Given the description of an element on the screen output the (x, y) to click on. 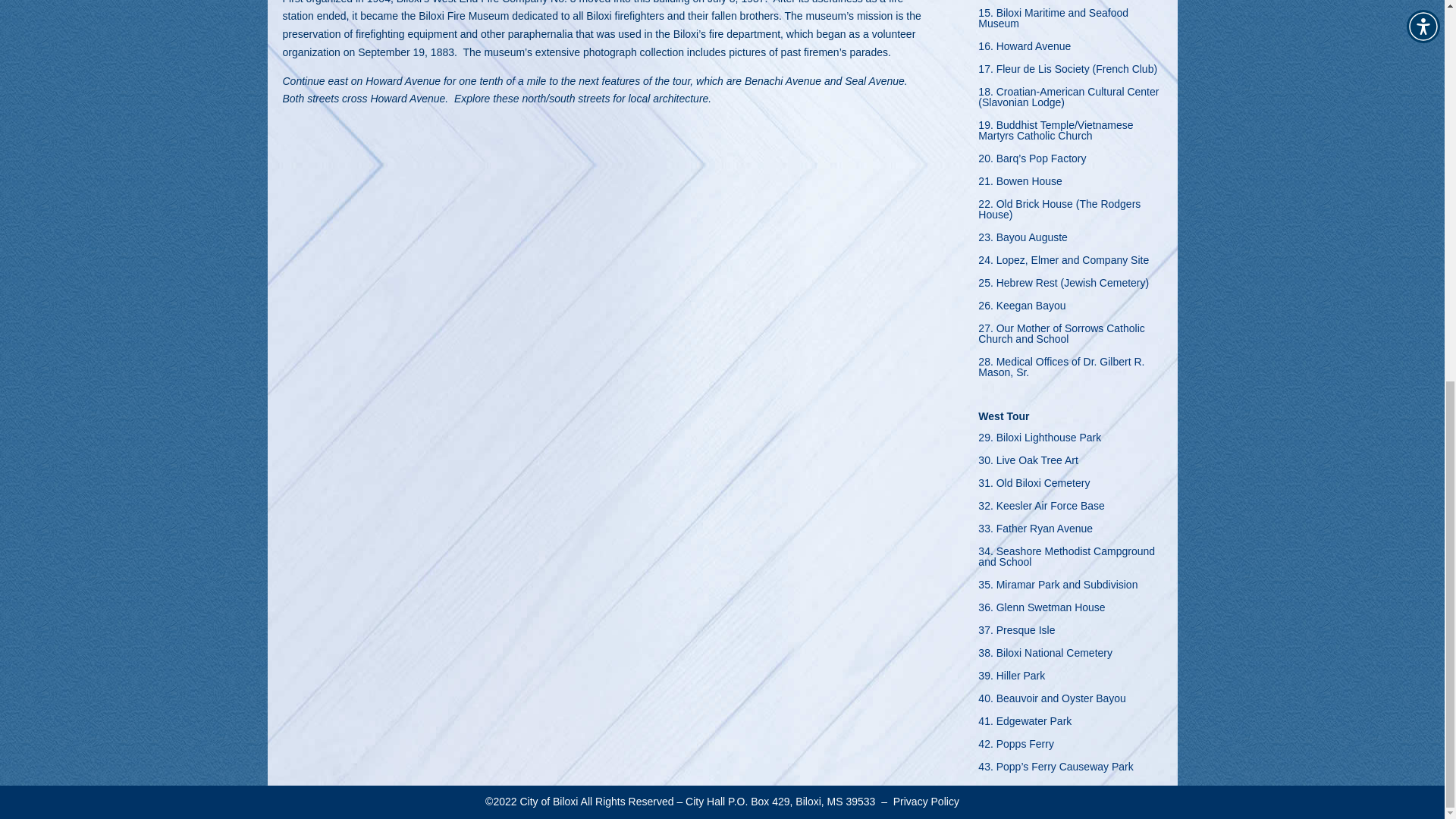
27. Our Mother of Sorrows Catholic Church and School (1069, 336)
16. Howard Avenue (1024, 48)
28. Medical Offices of Dr. Gilbert R. Mason, Sr. (1069, 370)
26. Keegan Bayou (1021, 308)
15. Biloxi Maritime and Seafood Museum (1069, 21)
24. Lopez, Elmer and Company Site (1063, 262)
21. Bowen House (1020, 184)
23. Bayou Auguste (1022, 239)
